Given the description of an element on the screen output the (x, y) to click on. 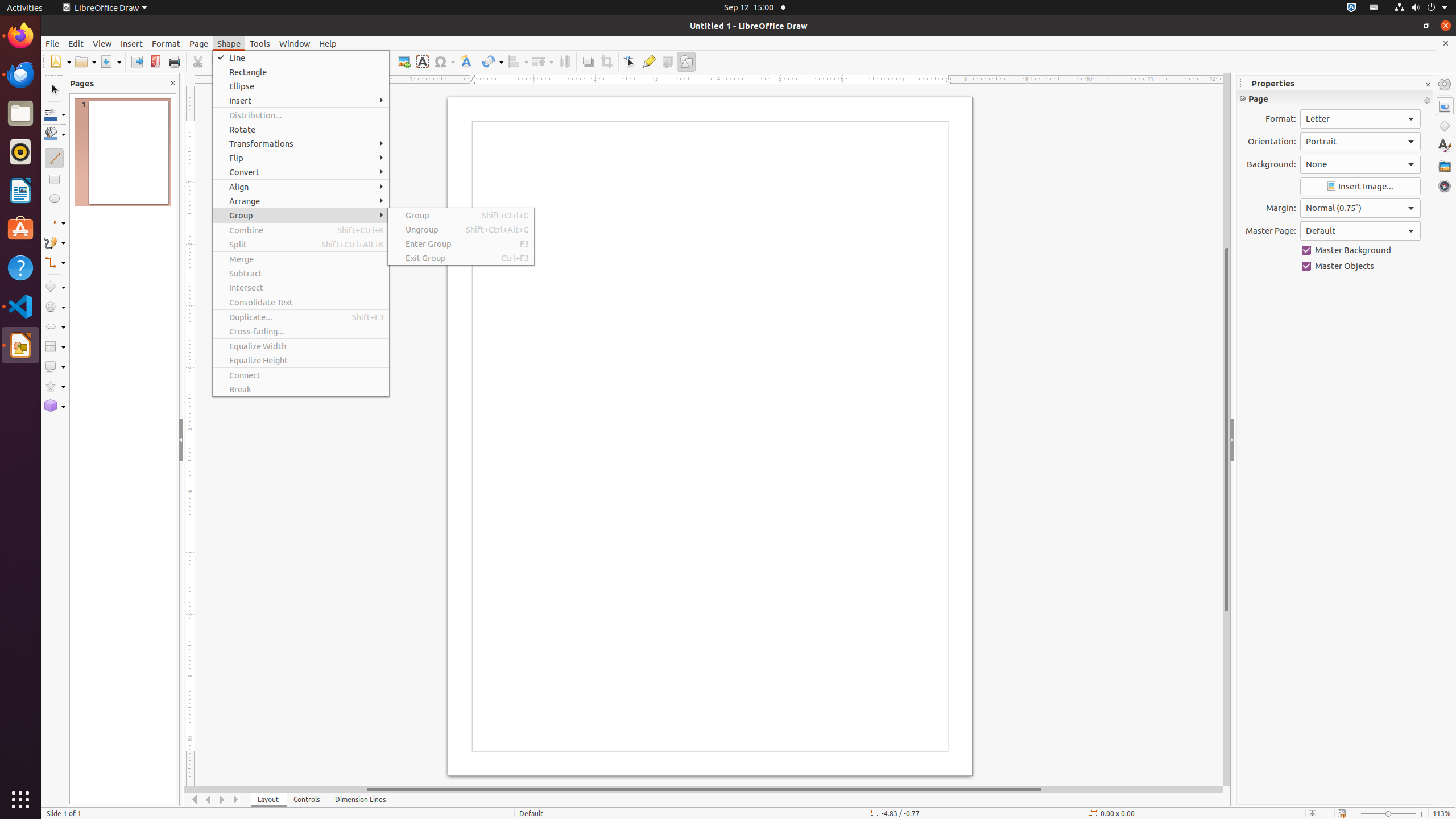
Cross-fading... Element type: menu-item (300, 331)
File Element type: menu (51, 43)
Grid Element type: toggle-button (342, 61)
Rotate Element type: menu-item (300, 129)
Open Element type: push-button (84, 61)
